Given the description of an element on the screen output the (x, y) to click on. 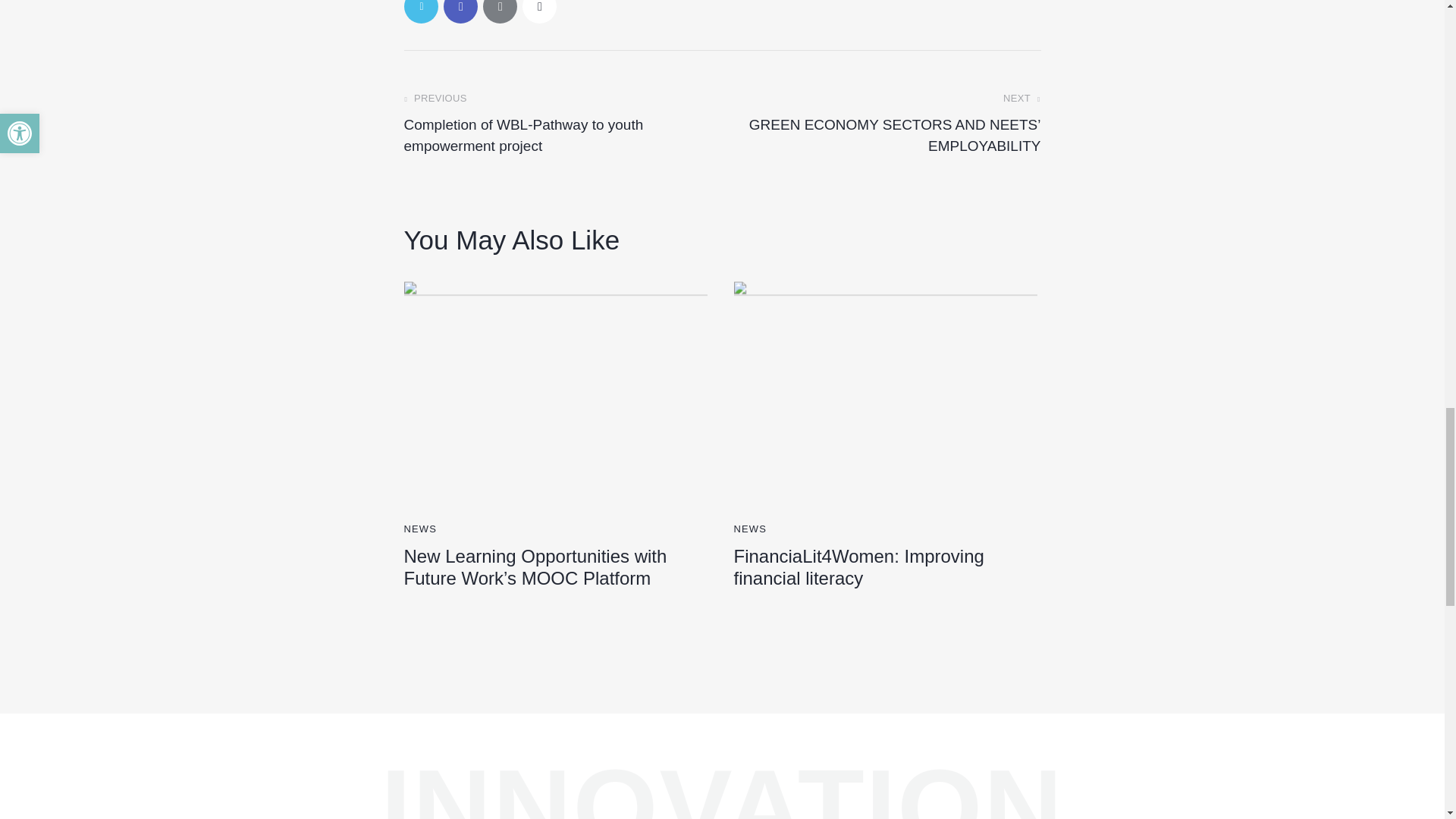
Copy URL to clipboard (538, 11)
